Given the description of an element on the screen output the (x, y) to click on. 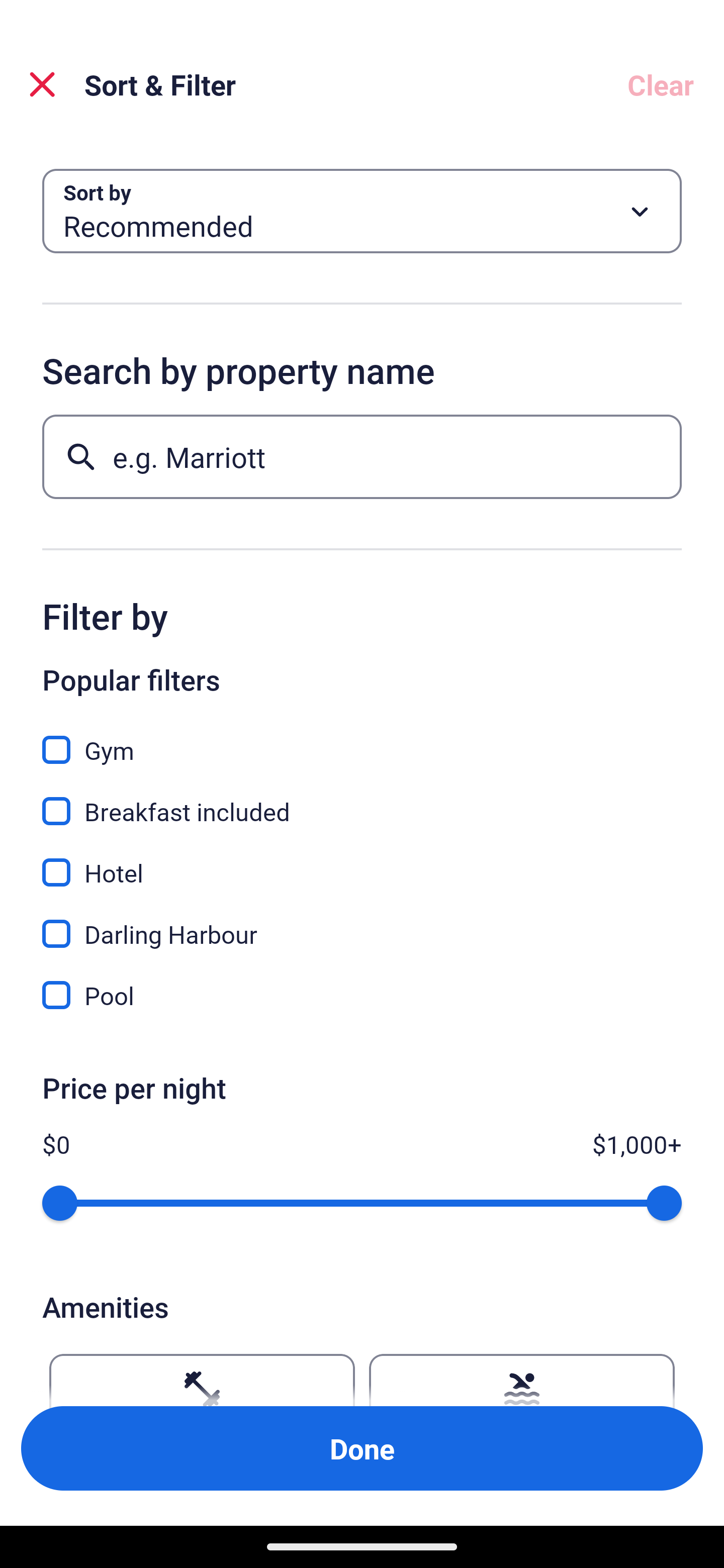
Close Sort and Filter (42, 84)
Clear (660, 84)
Sort by Button Recommended (361, 211)
e.g. Marriott Button (361, 455)
Gym, Gym (361, 738)
Breakfast included, Breakfast included (361, 800)
Hotel, Hotel (361, 861)
Darling Harbour, Darling Harbour (361, 922)
Pool, Pool (361, 995)
Apply and close Sort and Filter Done (361, 1448)
